Given the description of an element on the screen output the (x, y) to click on. 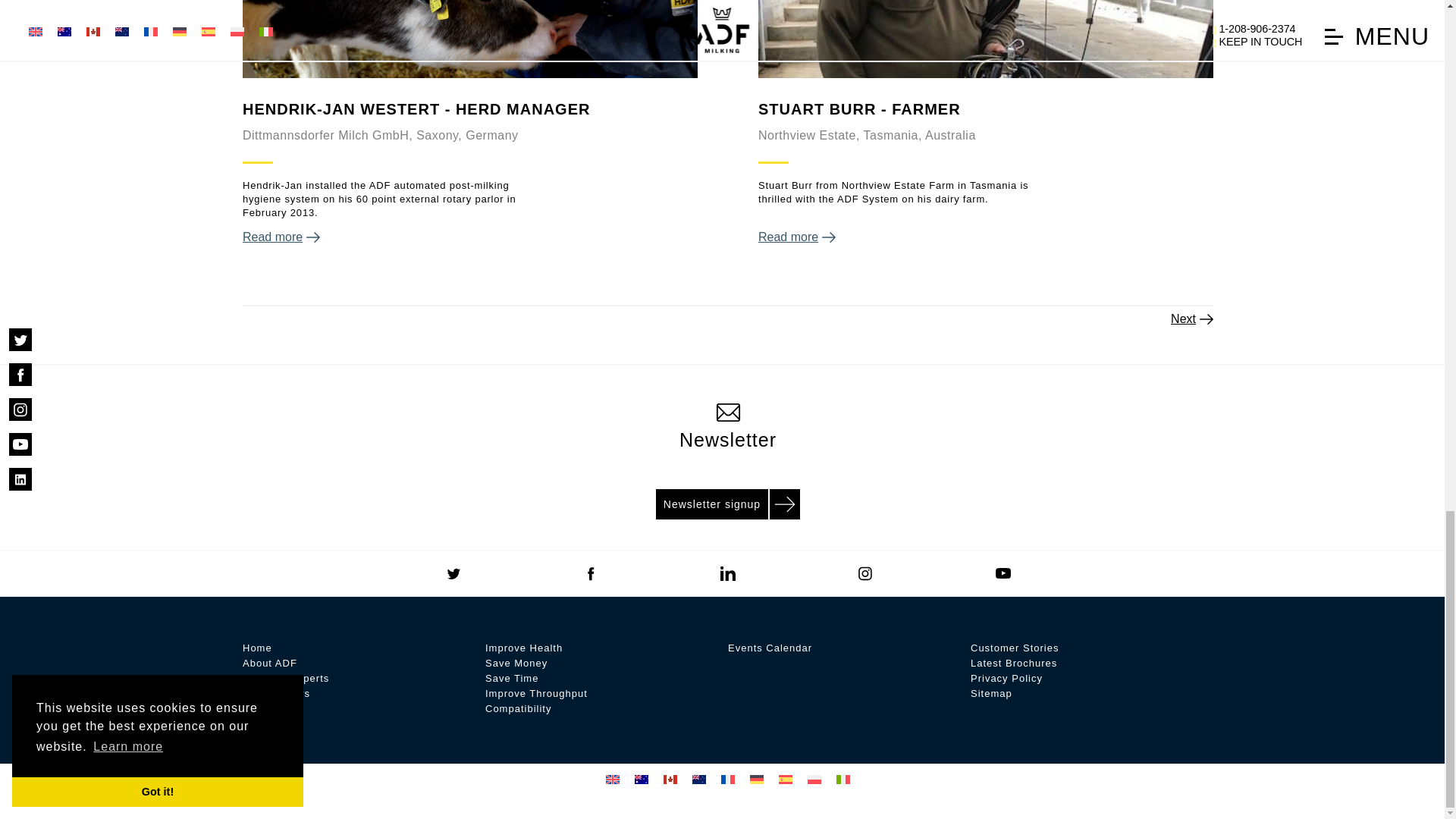
Read more (985, 237)
Read more (470, 237)
Next (1191, 318)
Newsletter signup (727, 502)
